Given the description of an element on the screen output the (x, y) to click on. 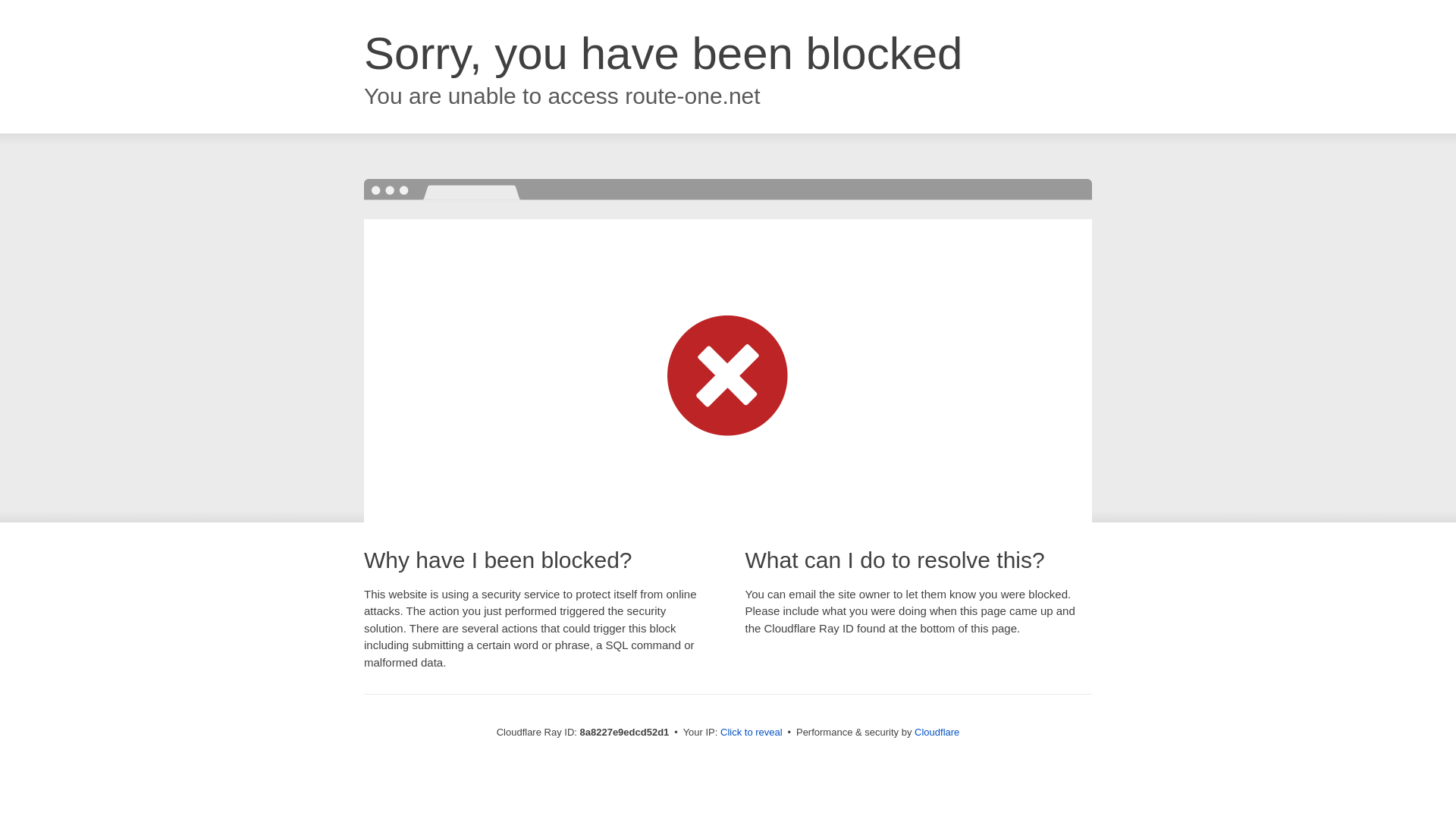
Click to reveal (751, 732)
Cloudflare (936, 731)
